Given the description of an element on the screen output the (x, y) to click on. 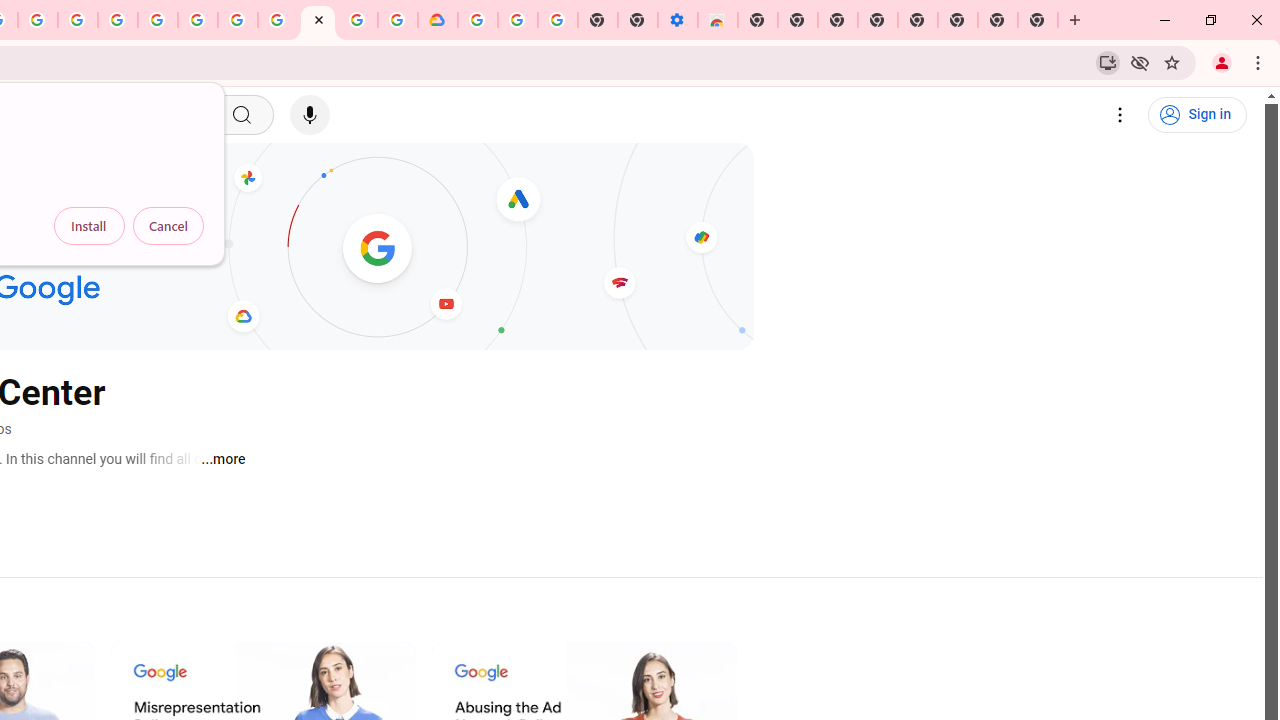
New Tab (1037, 20)
Settings - Accessibility (677, 20)
Third-party cookies blocked (1139, 62)
Search with your voice (309, 115)
Settings (1119, 115)
Install YouTube (1107, 62)
Google Account Help (517, 20)
Turn cookies on or off - Computer - Google Account Help (557, 20)
Ad Settings (118, 20)
